Given the description of an element on the screen output the (x, y) to click on. 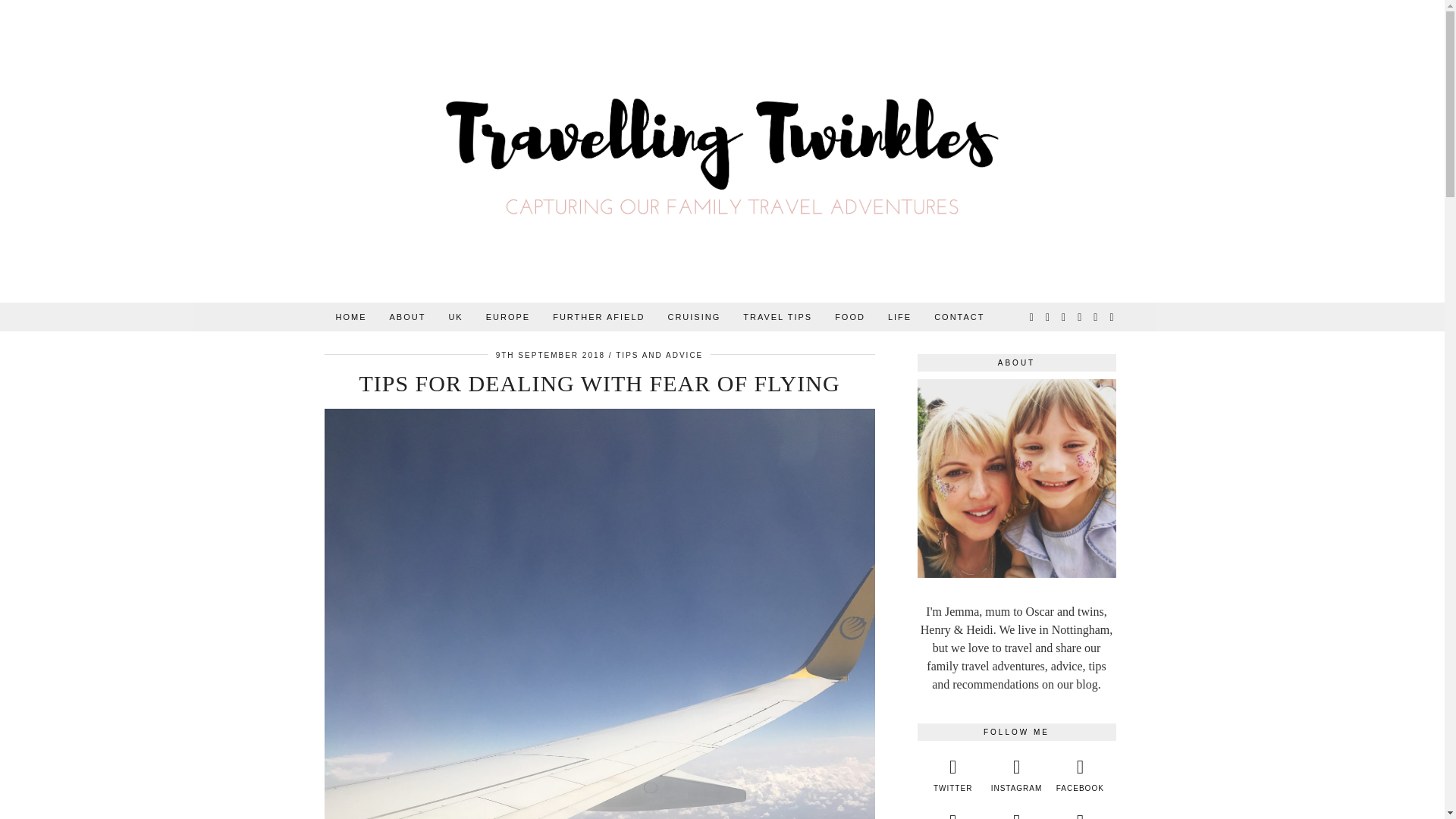
ABOUT (406, 316)
HOME (351, 316)
